Given the description of an element on the screen output the (x, y) to click on. 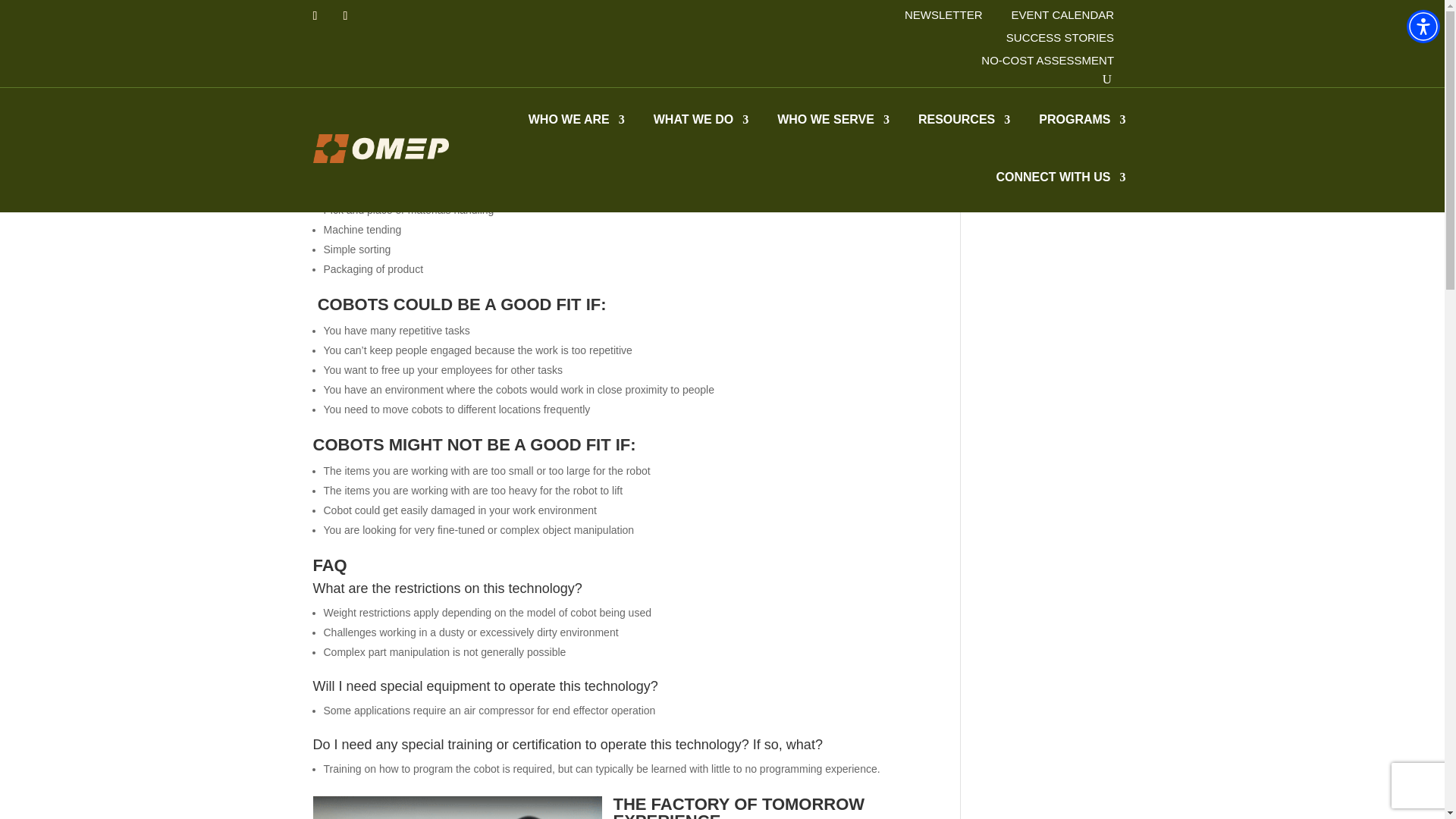
Accessibility Menu (1422, 26)
Follow on LinkedIn (324, 15)
Follow on Facebook (354, 15)
